Given the description of an element on the screen output the (x, y) to click on. 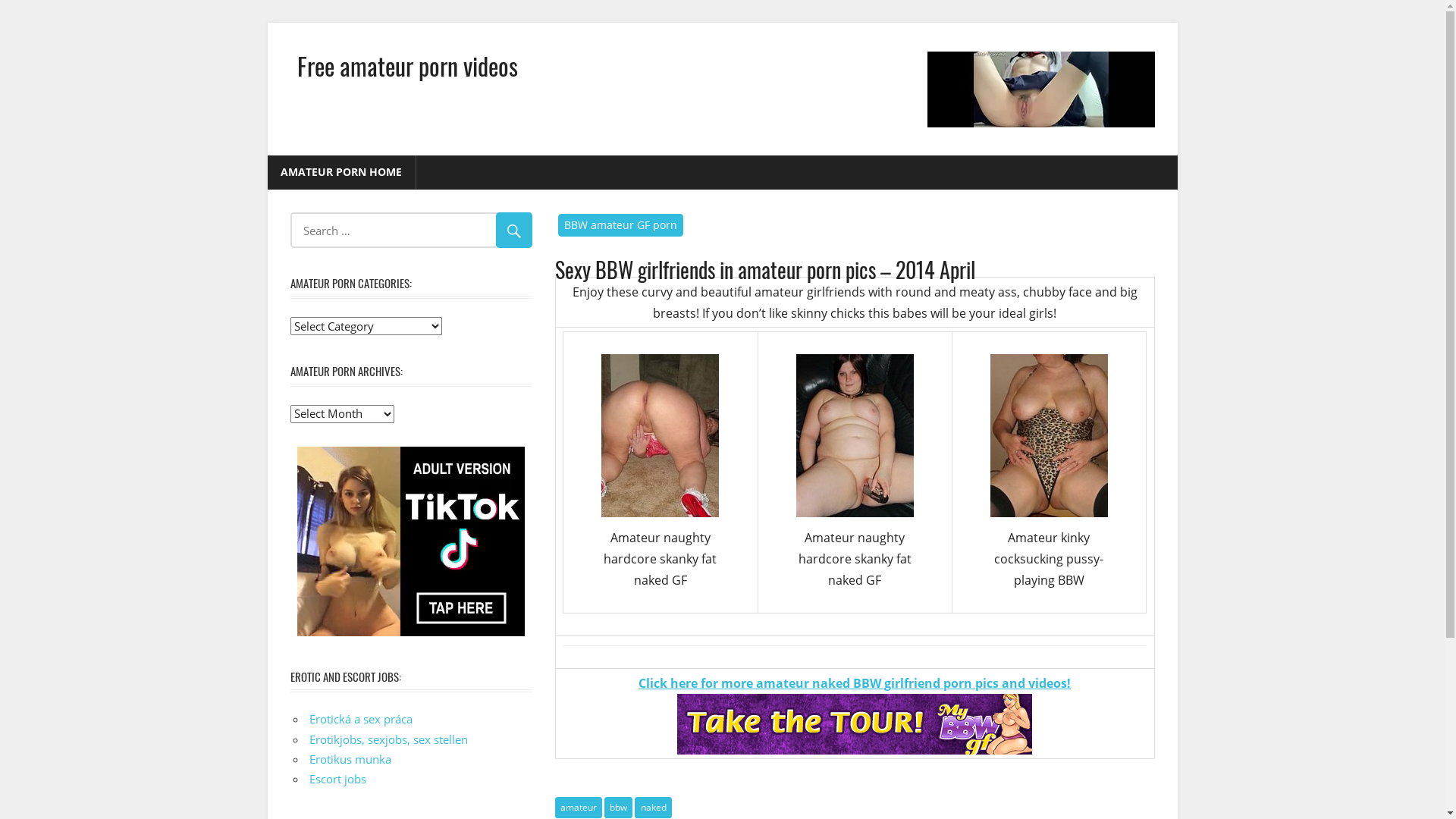
naked Element type: text (652, 807)
bbw Element type: text (618, 807)
Erotikus munka Element type: text (350, 758)
amateur-bbw-girlfriend-porn Element type: hover (854, 435)
amateur-bbw-girlfriend-porn Element type: hover (1048, 435)
Free amateur porn videos Element type: text (407, 65)
amateur Element type: text (578, 807)
Skip to content Element type: text (266, 21)
AMATEUR PORN HOME Element type: text (340, 172)
amateur-bbw-girlfriend-porn Element type: hover (854, 723)
amateur-bbw-girlfriend-porn Element type: hover (659, 435)
Escort jobs Element type: text (337, 778)
BBW amateur GF porn Element type: text (621, 224)
Search for: Element type: hover (410, 229)
Erotikjobs, sexjobs, sex stellen Element type: text (388, 738)
